Given the description of an element on the screen output the (x, y) to click on. 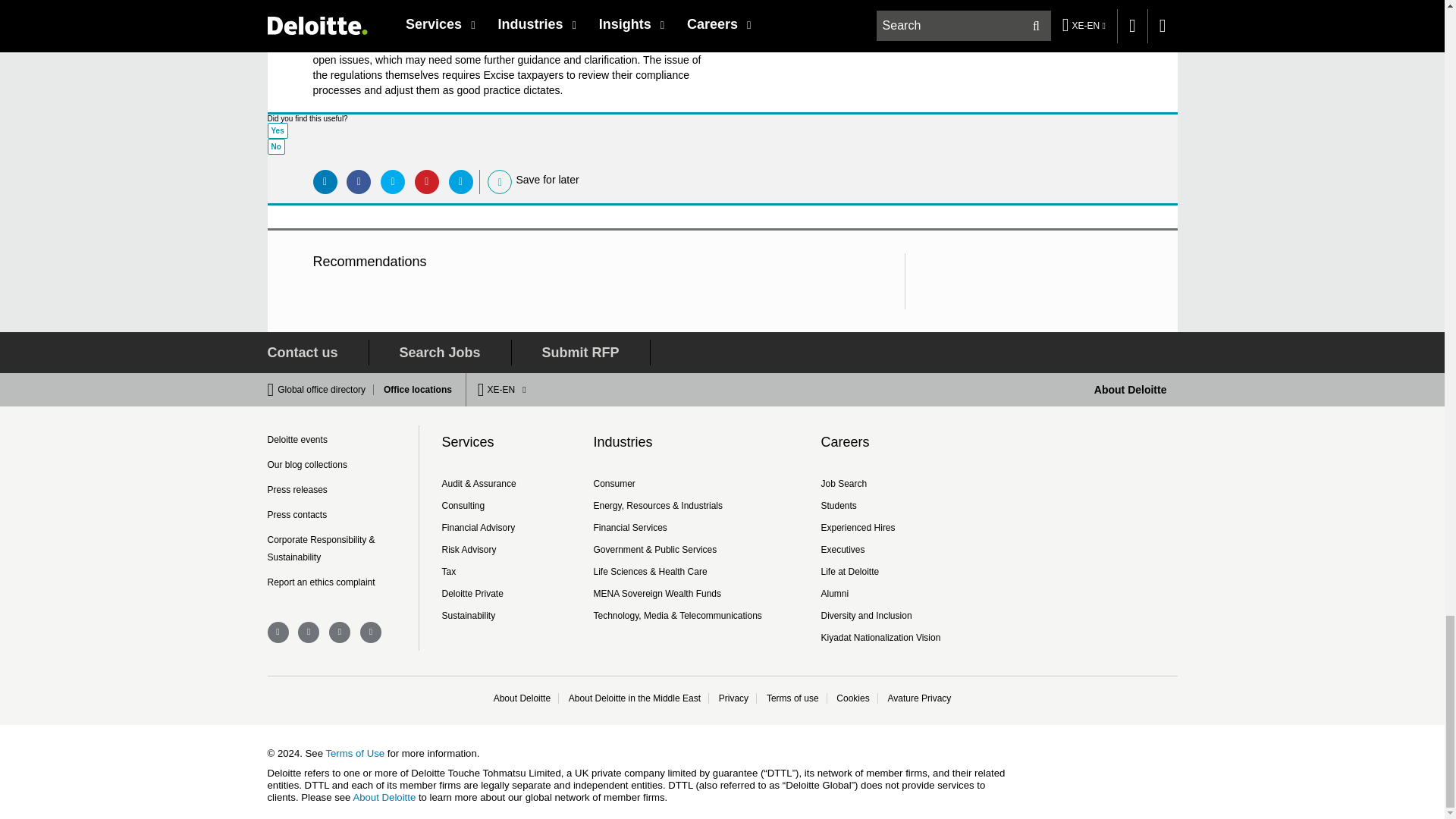
Share on LinkedIn (324, 181)
Share on Twitter (392, 181)
Global office directory (326, 389)
Share on Facebook (358, 181)
Save for later (499, 182)
Share by email (460, 181)
Share on Pinterest (426, 181)
